Given the description of an element on the screen output the (x, y) to click on. 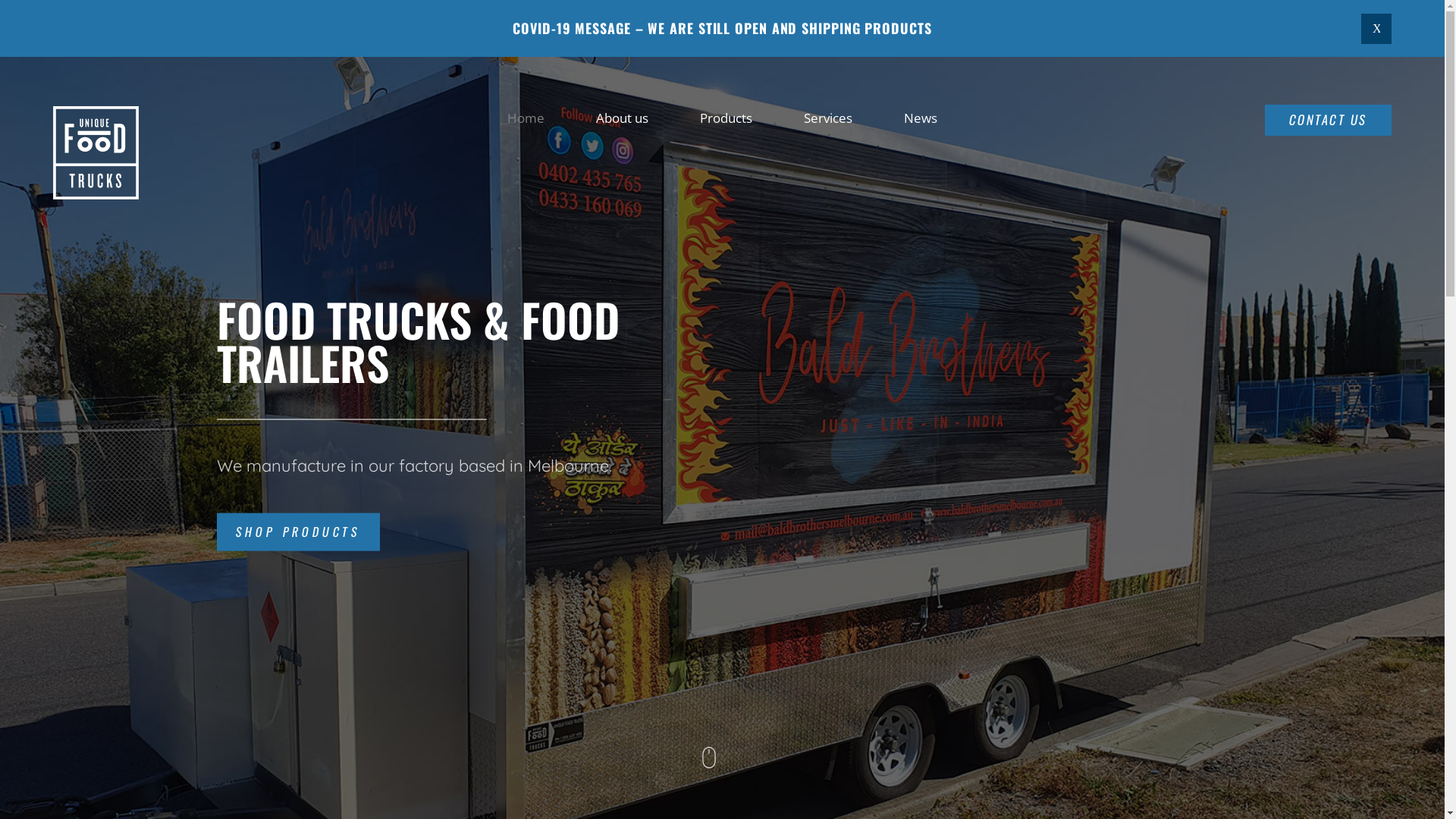
Home Element type: text (525, 115)
Products Element type: text (725, 115)
SHOP PRODUCTS Element type: text (297, 532)
News Element type: text (920, 115)
About us Element type: text (622, 115)
Services Element type: text (827, 115)
CONTACT US Element type: text (1327, 119)
